Given the description of an element on the screen output the (x, y) to click on. 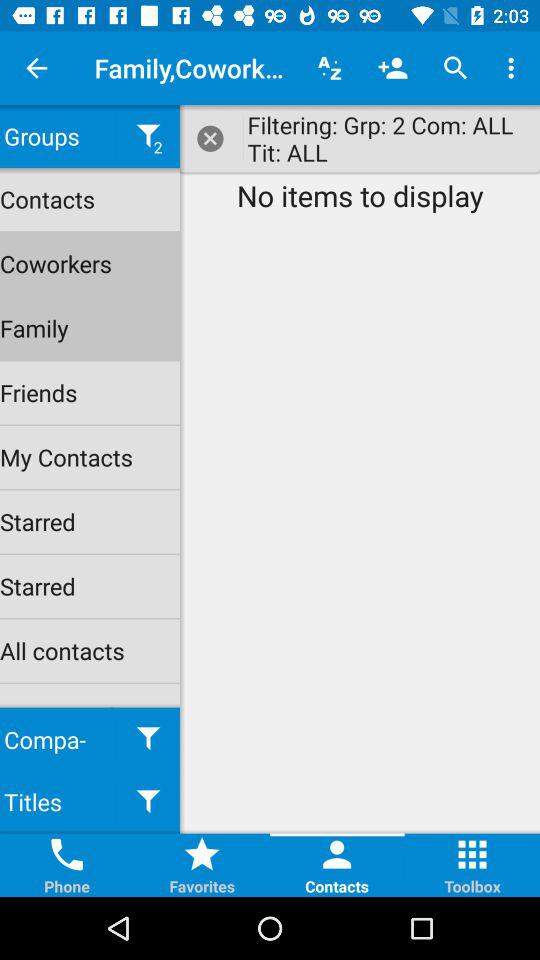
click the close button on the web page (211, 138)
click on the icon above phone (66, 855)
click on search icon at the top right corner of the web page (456, 68)
click on add contacts icon to the left of search icon at the top of the web page (392, 68)
